Given the description of an element on the screen output the (x, y) to click on. 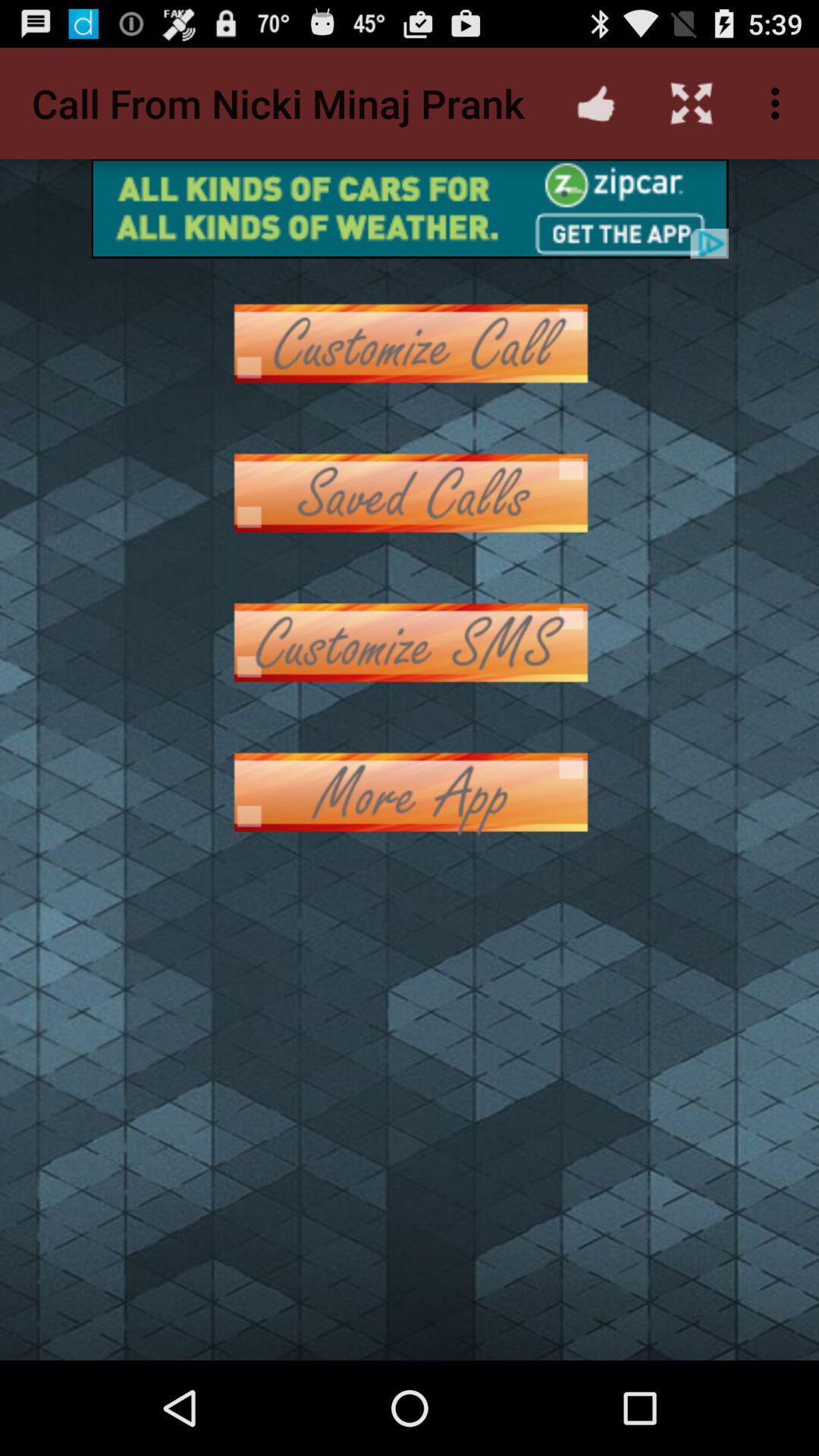
open saved calls (409, 492)
